Given the description of an element on the screen output the (x, y) to click on. 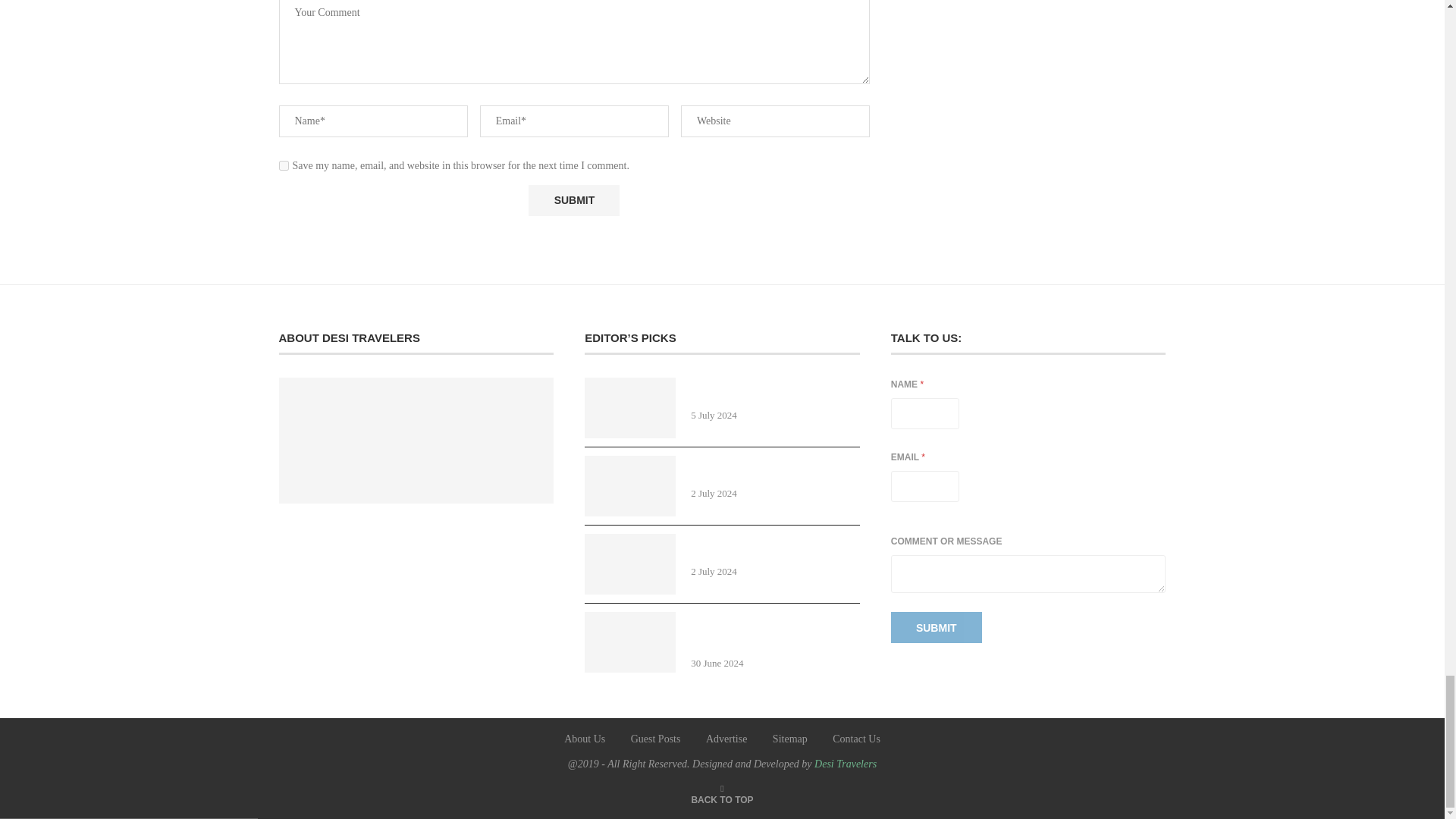
yes (283, 165)
Submit (574, 200)
